Given the description of an element on the screen output the (x, y) to click on. 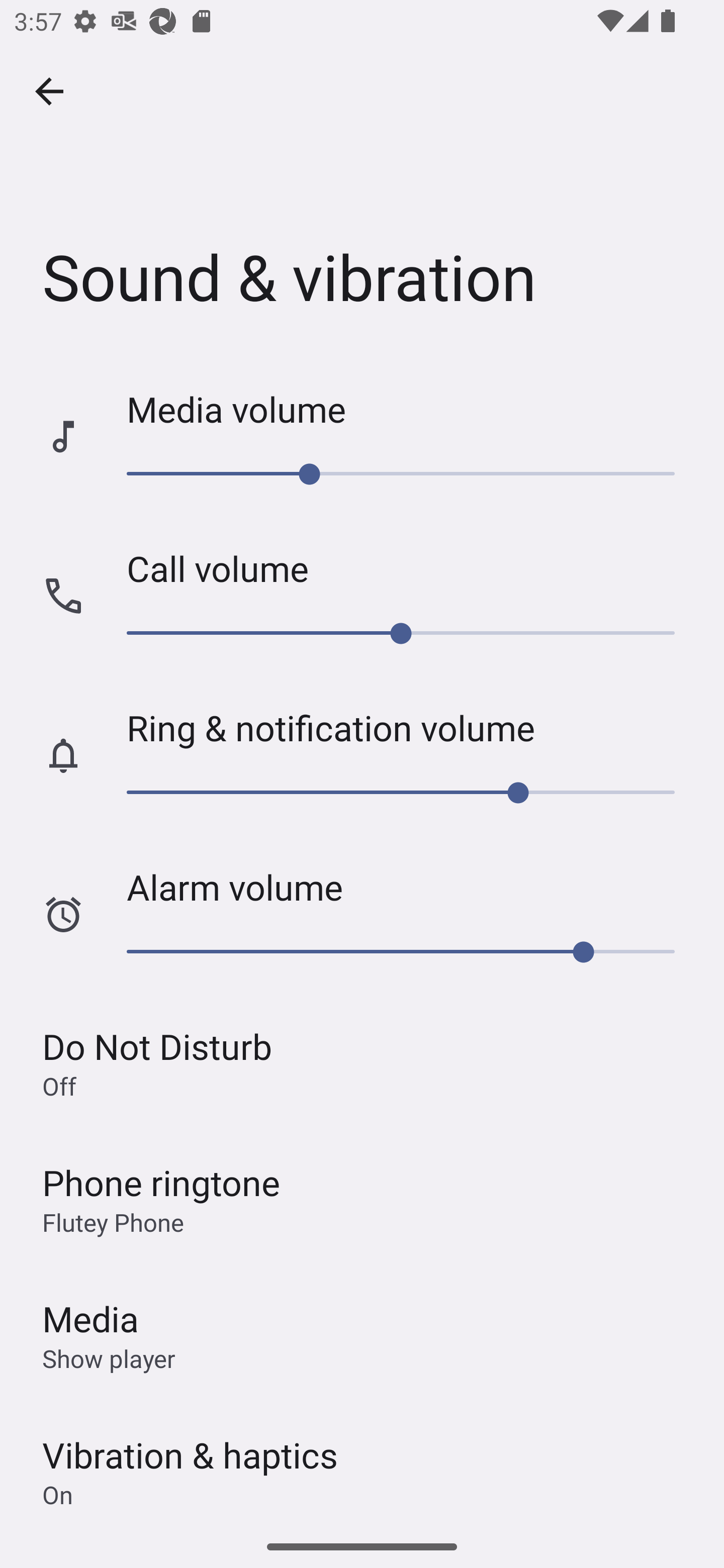
Navigate up (49, 91)
Do Not Disturb Off (362, 1062)
Phone ringtone Flutey Phone (362, 1198)
Media Show player (362, 1334)
Vibration & haptics On (362, 1464)
